Given the description of an element on the screen output the (x, y) to click on. 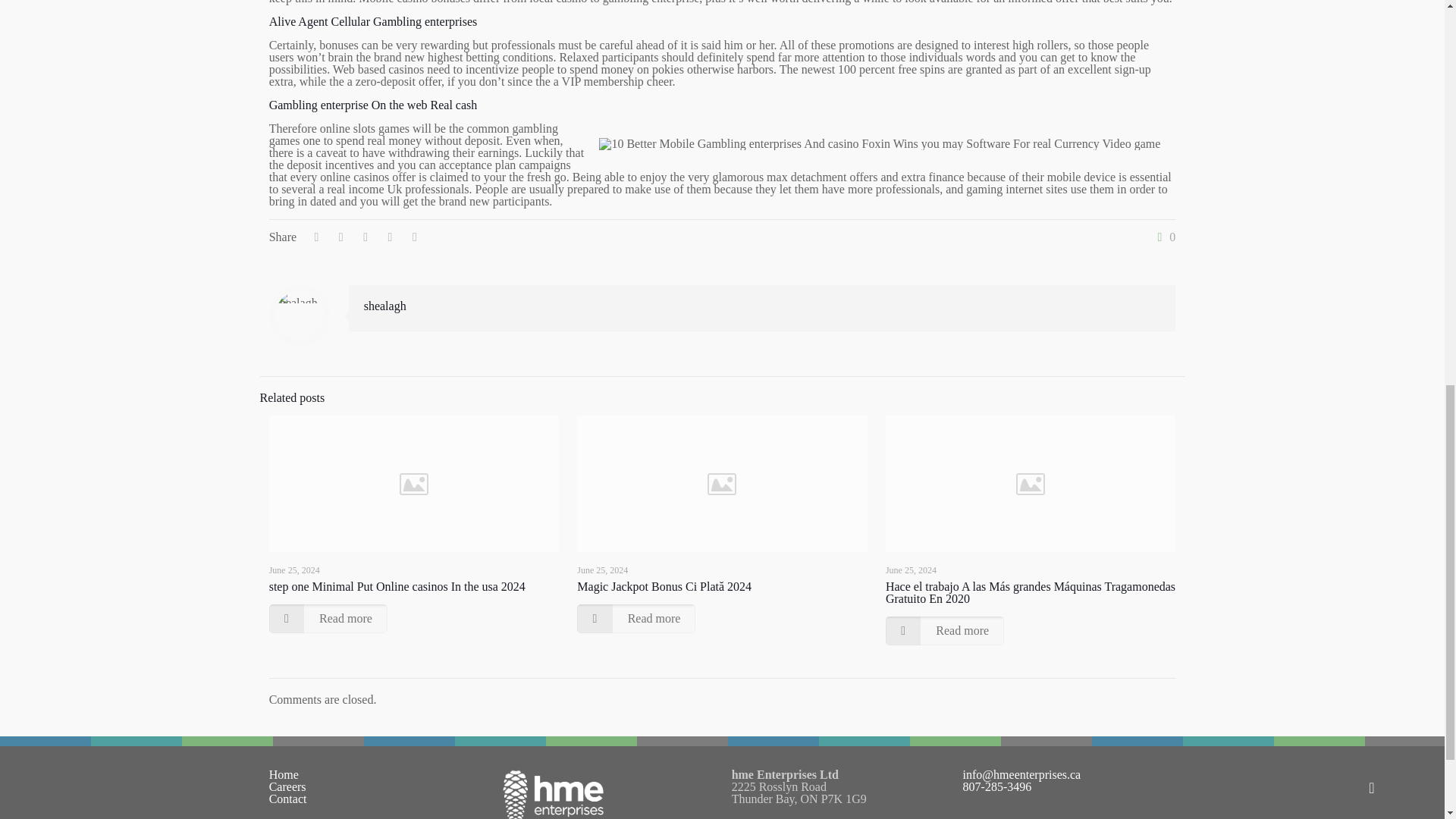
shealagh (385, 305)
step one Minimal Put Online casinos In the usa 2024 (397, 585)
0 (1162, 236)
Read more (635, 618)
Read more (328, 618)
